Given the description of an element on the screen output the (x, y) to click on. 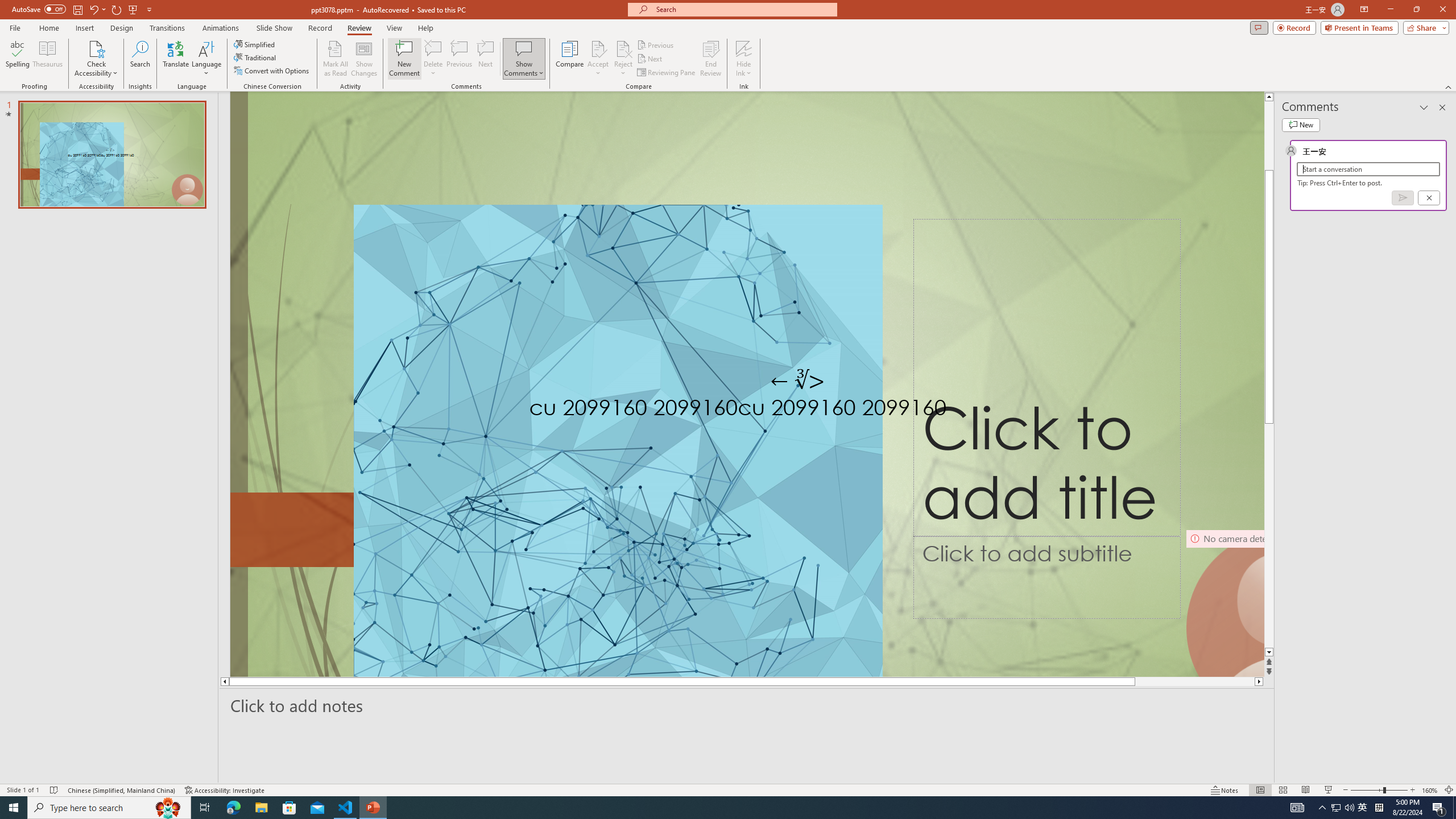
Start a conversation (1368, 168)
Next (649, 58)
Language (206, 58)
Show Changes (363, 58)
Subtitle TextBox (1046, 577)
Translate (175, 58)
An abstract genetic concept (746, 383)
Reject (622, 58)
